Given the description of an element on the screen output the (x, y) to click on. 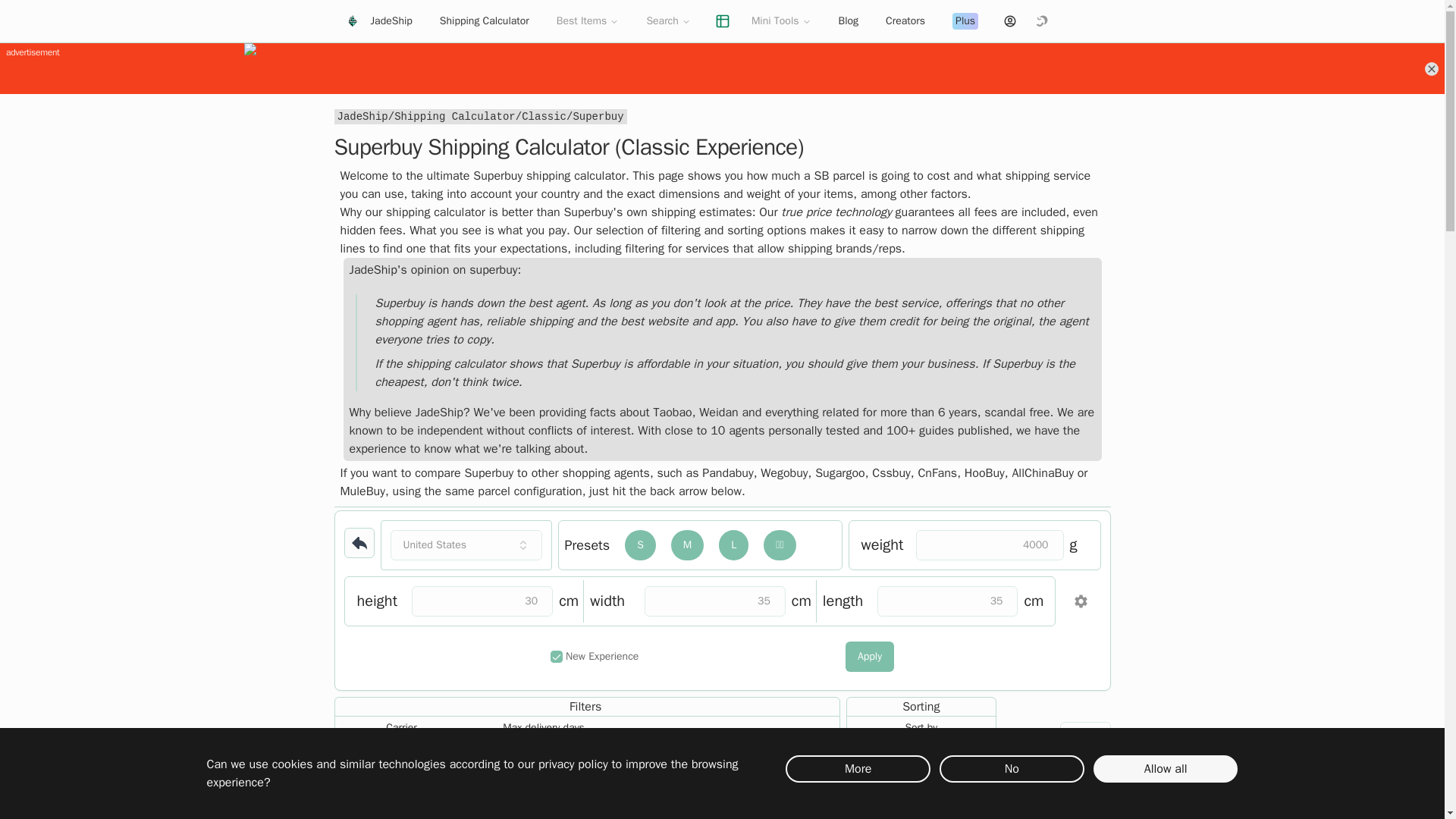
30 (481, 601)
4000 (989, 544)
35 (715, 601)
All (401, 754)
on (556, 656)
Apply (1084, 736)
on (826, 746)
Superbuy Sign-Up (1034, 809)
M (687, 544)
Superbuy Sign-Up (1034, 814)
JadeShip (378, 20)
on (716, 746)
35 (947, 601)
S (640, 544)
Mini Tools (781, 20)
